Given the description of an element on the screen output the (x, y) to click on. 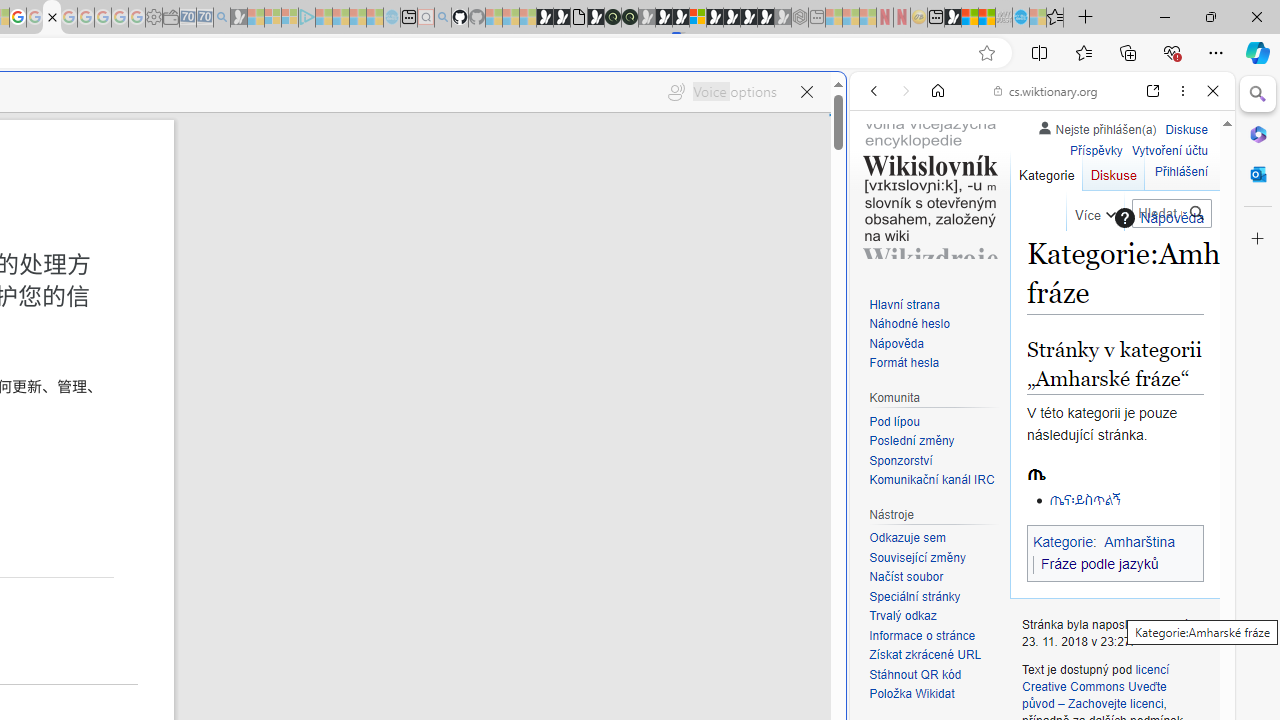
Search Filter, Search Tools (1093, 228)
Home | Sky Blue Bikes - Sky Blue Bikes - Sleeping (392, 17)
Frequently visited (418, 265)
Search Filter, VIDEOS (1006, 228)
Search or enter web address (343, 191)
cs.wiktionary.org (1046, 90)
Bing Real Estate - Home sales and rental listings - Sleeping (221, 17)
Close Customize pane (1258, 239)
